Given the description of an element on the screen output the (x, y) to click on. 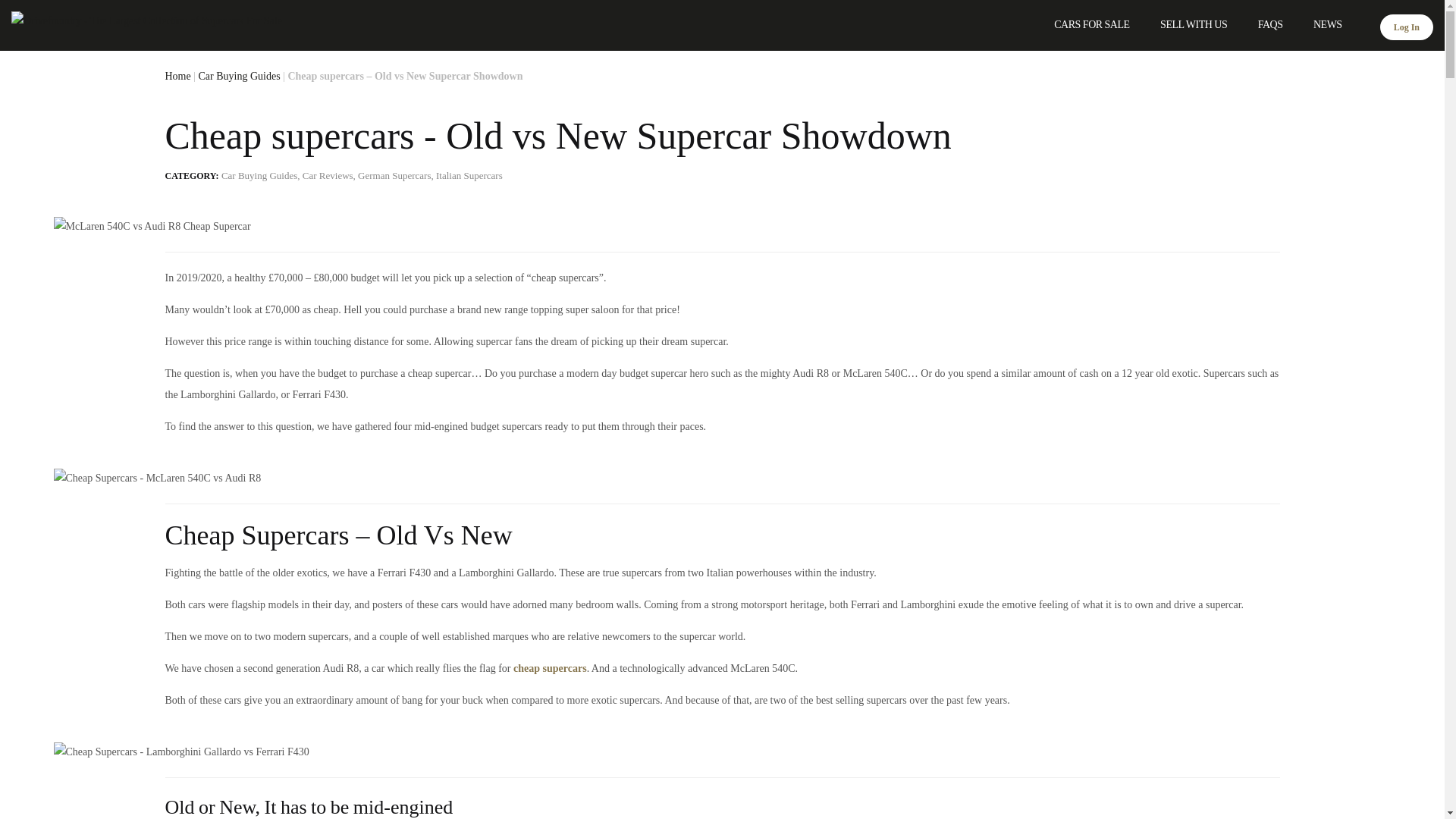
Car Buying Guides (239, 75)
FAQS (1269, 24)
Log In (1406, 27)
Car Buying Guides (259, 174)
German Supercars (394, 174)
Home (146, 21)
Car Reviews (327, 174)
SELL WITH US (1193, 24)
NEWS (1327, 24)
Italian Supercars (468, 174)
CARS FOR SALE (1091, 24)
cheap supercars (549, 668)
Home (177, 75)
